Given the description of an element on the screen output the (x, y) to click on. 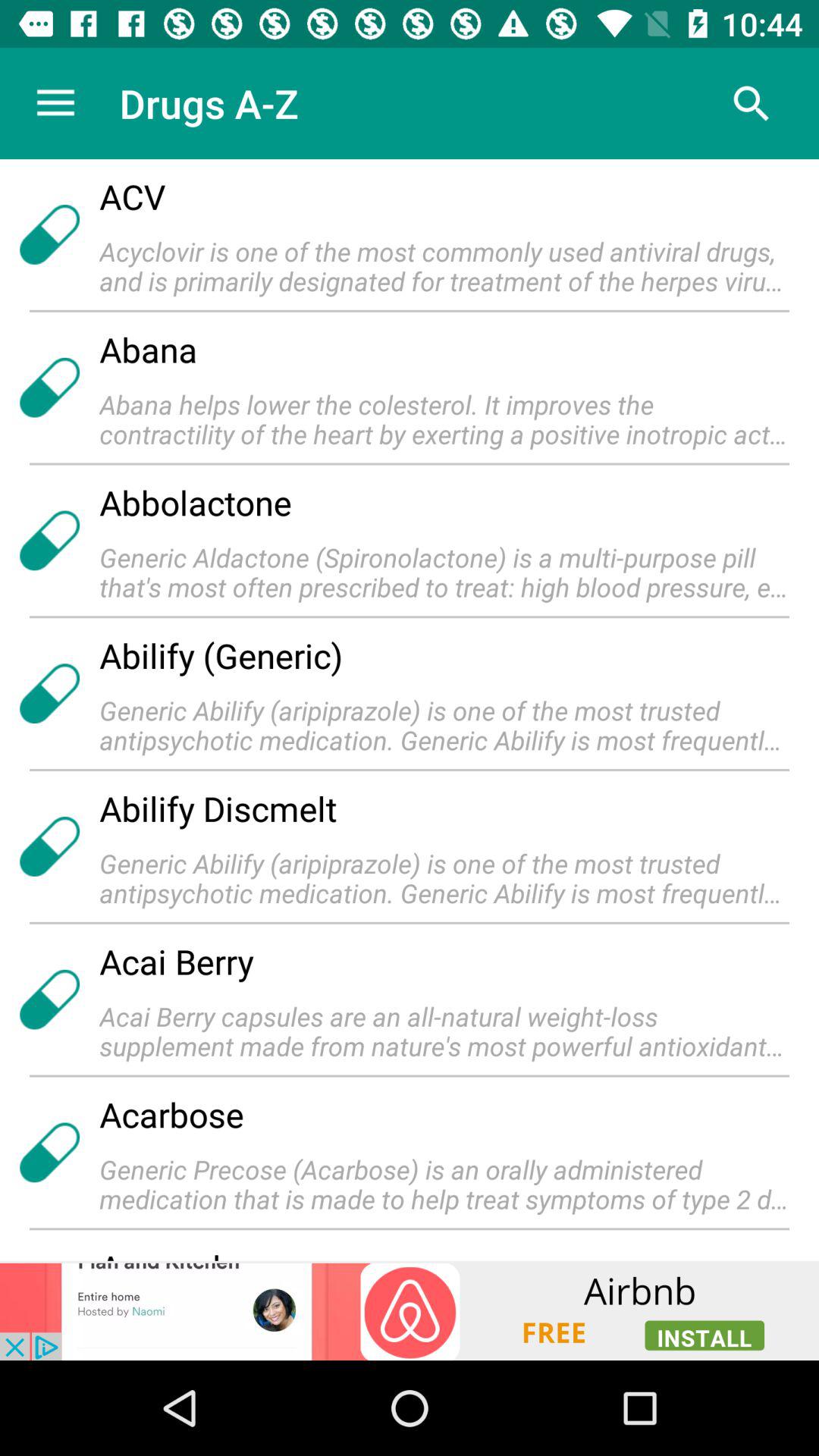
select the icon which is left side of the acarbose (49, 1152)
